Given the description of an element on the screen output the (x, y) to click on. 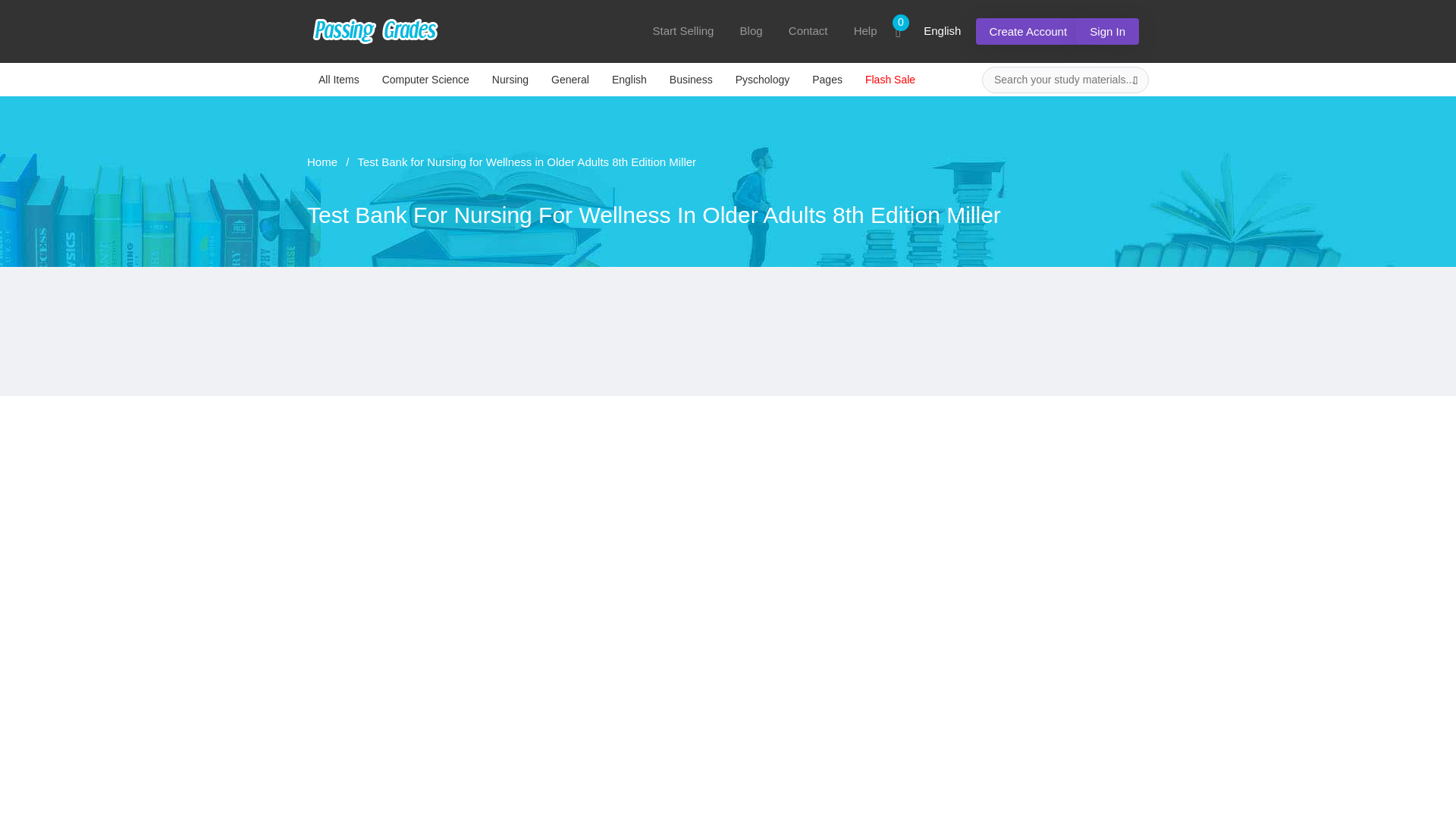
Nursing (510, 78)
Sign In (1106, 31)
Blog (751, 30)
All Items (339, 78)
Create Account (1028, 31)
General (569, 78)
Help (865, 30)
English (628, 78)
Start Selling (683, 30)
Computer Science (425, 78)
Business (690, 78)
Contact (807, 30)
